Given the description of an element on the screen output the (x, y) to click on. 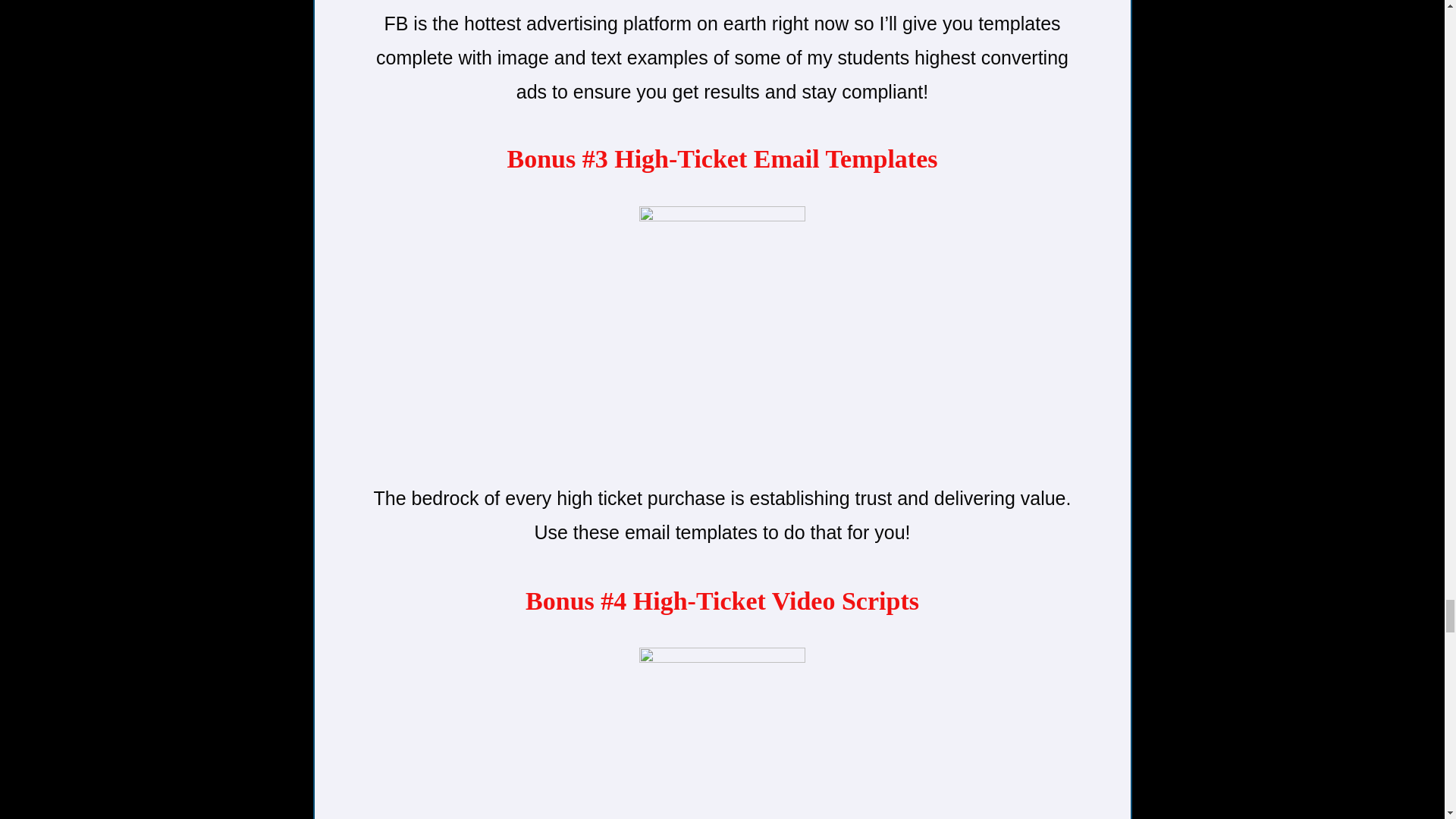
video scripts (722, 733)
email templates (722, 336)
